Given the description of an element on the screen output the (x, y) to click on. 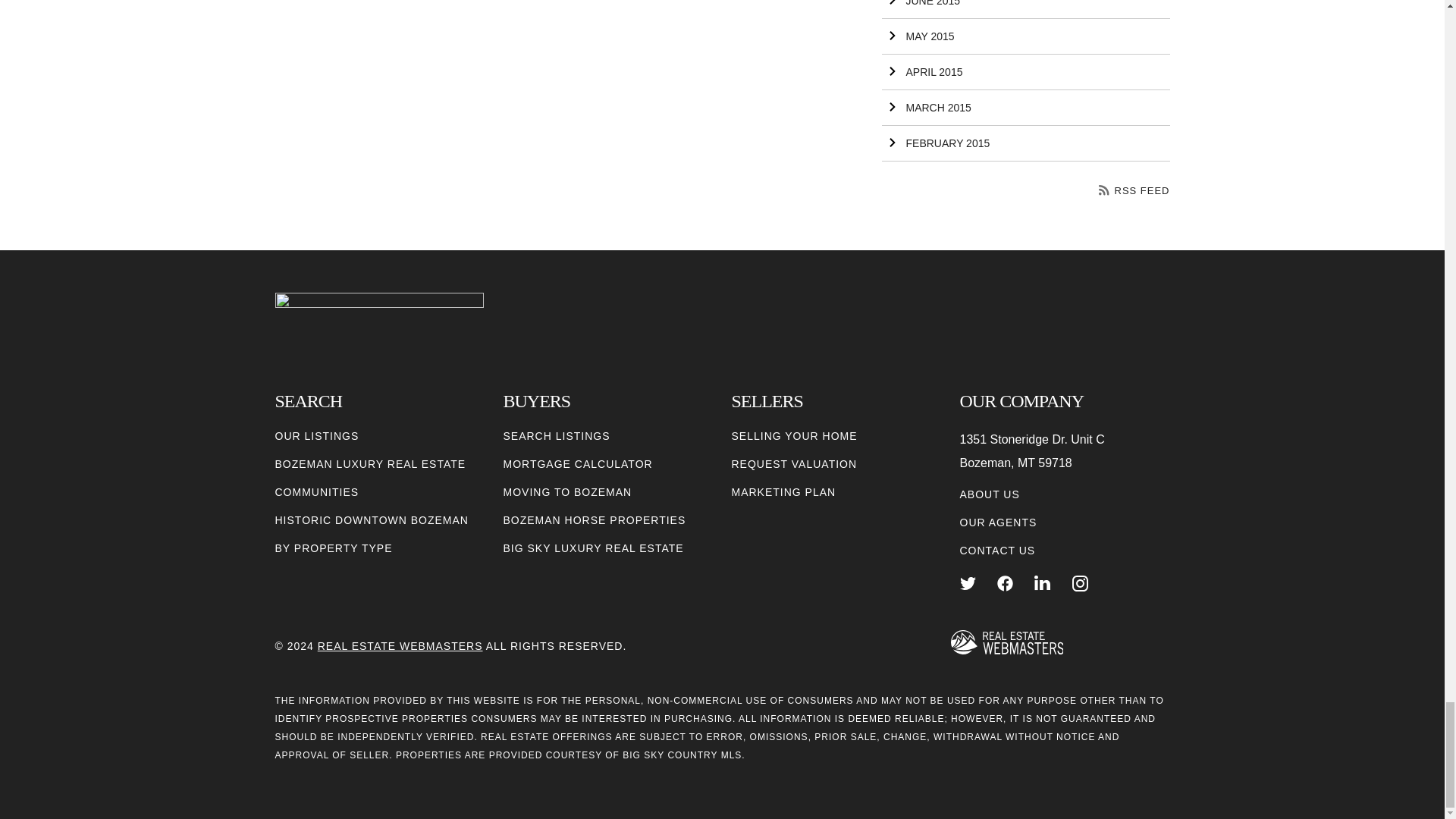
RSS FEED (1134, 190)
